Given the description of an element on the screen output the (x, y) to click on. 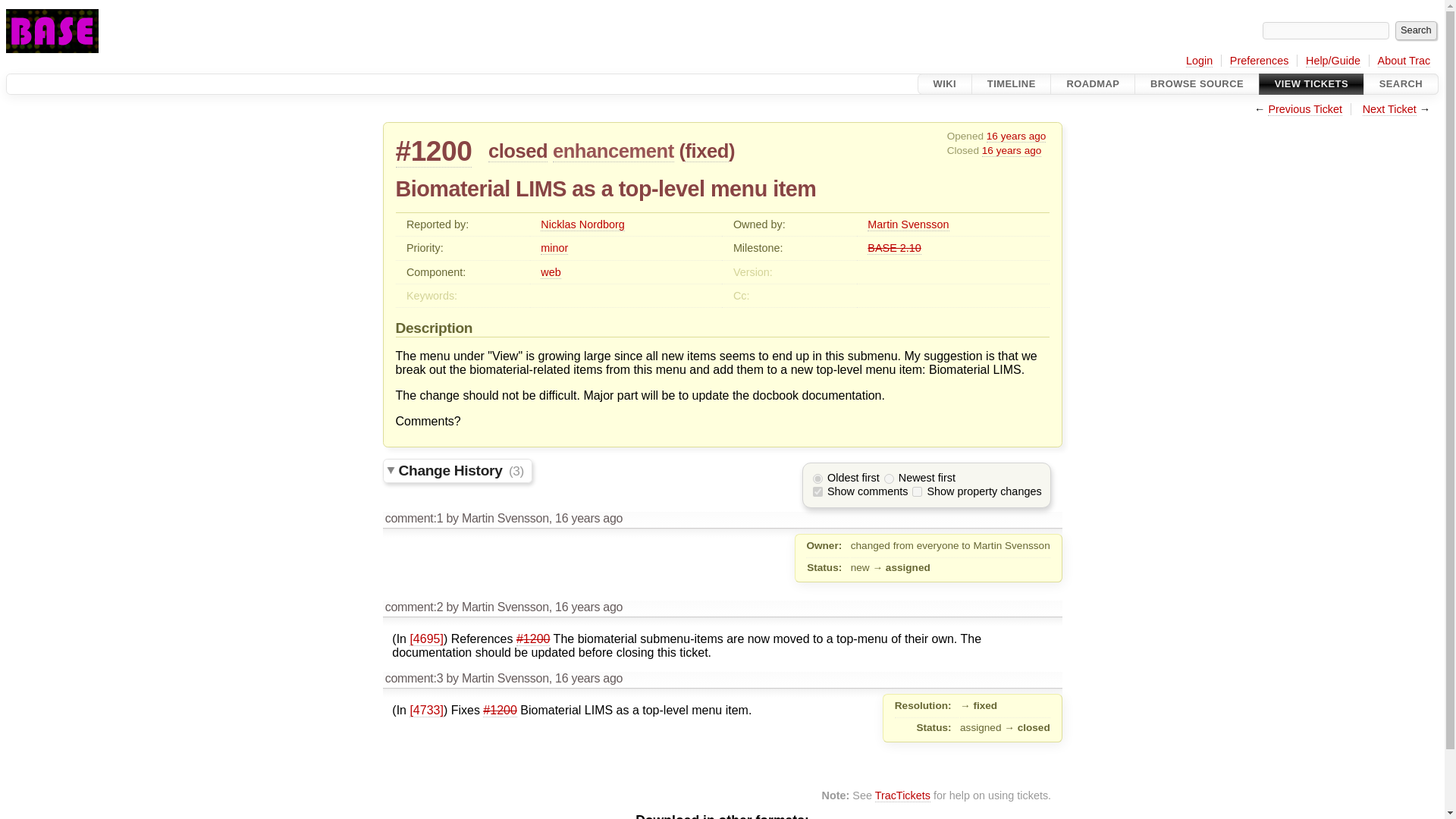
web (550, 272)
See timeline at Jan 21, 2009, 4:11:29 PM (1011, 150)
WIKI (945, 84)
VIEW TICKETS (1310, 84)
See timeline at Dec 9, 2008, 2:26:04 PM (588, 606)
newest (888, 479)
TIMELINE (1011, 84)
on (817, 491)
Martin Svensson (908, 224)
16 years ago (1011, 150)
